Given the description of an element on the screen output the (x, y) to click on. 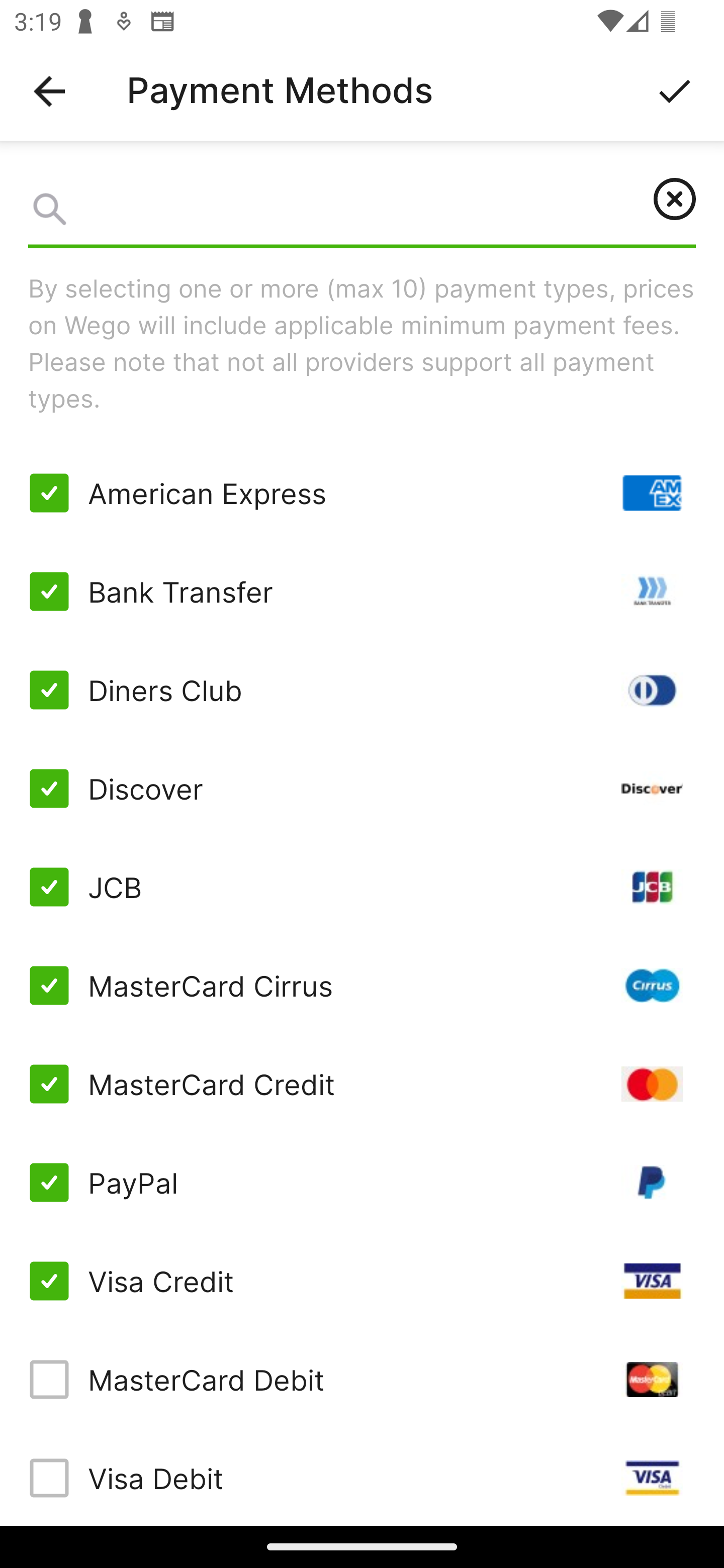
American Express (362, 492)
Bank Transfer (362, 591)
Diners Club (362, 689)
Discover (362, 787)
JCB (362, 886)
MasterCard Cirrus (362, 985)
MasterCard Credit (362, 1083)
PayPal (362, 1182)
Visa Credit (362, 1280)
MasterCard Debit (362, 1378)
Visa Debit (362, 1476)
